Given the description of an element on the screen output the (x, y) to click on. 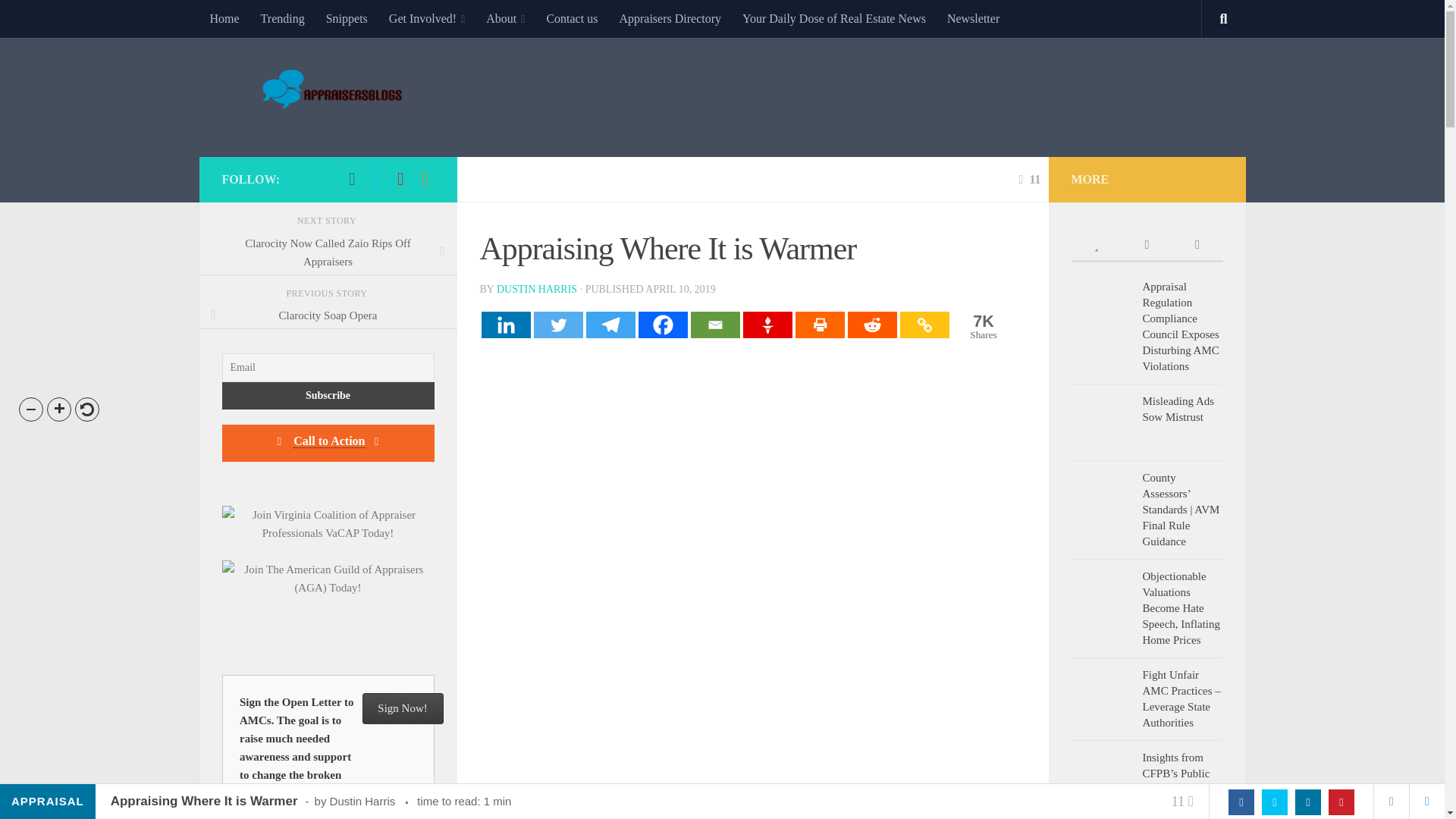
Posts by Dustin Harris (536, 288)
Twitter (558, 325)
DUSTIN HARRIS (536, 288)
Subscribe (327, 395)
Trending (282, 18)
Appraisers Directory (670, 18)
11 (981, 326)
Linkedin (1030, 178)
Gettr (504, 325)
